Given the description of an element on the screen output the (x, y) to click on. 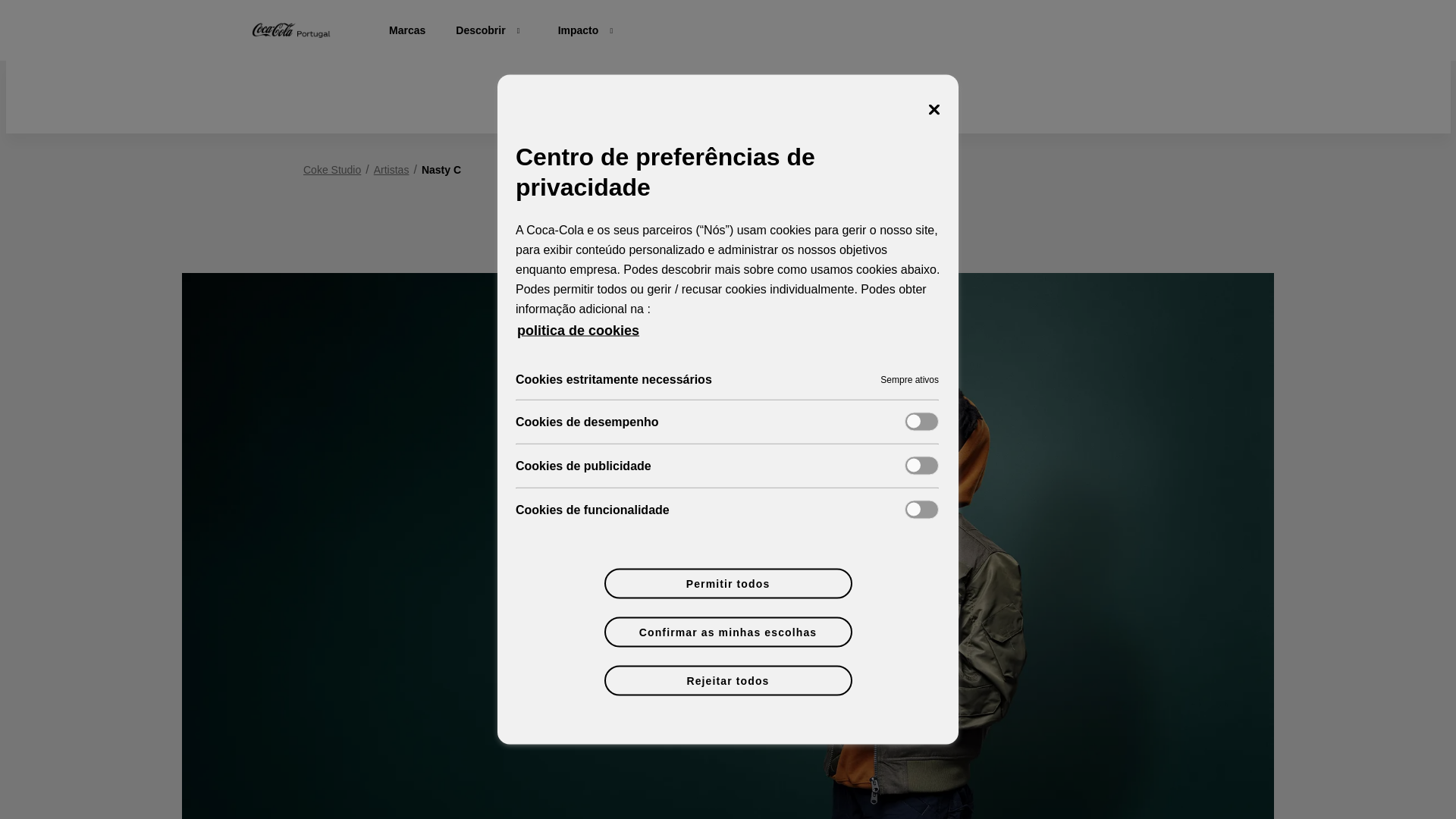
Artistas (391, 169)
Coke Studio (727, 614)
